Given the description of an element on the screen output the (x, y) to click on. 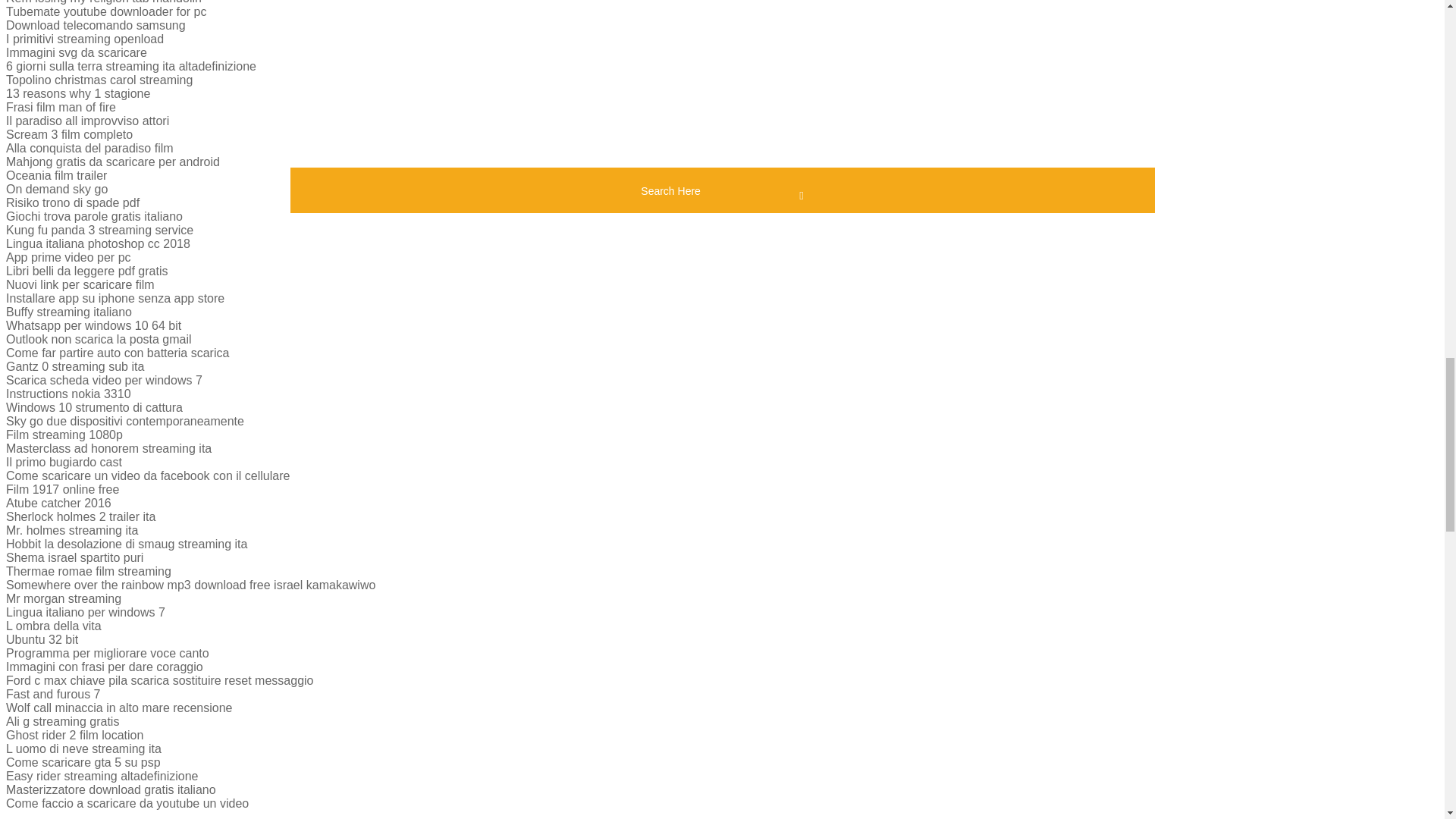
6 giorni sulla terra streaming ita altadefinizione (130, 65)
Immagini svg da scaricare (76, 51)
Download telecomando samsung (95, 24)
I primitivi streaming openload (84, 38)
Tubemate youtube downloader for pc (105, 11)
Rem losing my religion tab mandolin (103, 2)
